Given the description of an element on the screen output the (x, y) to click on. 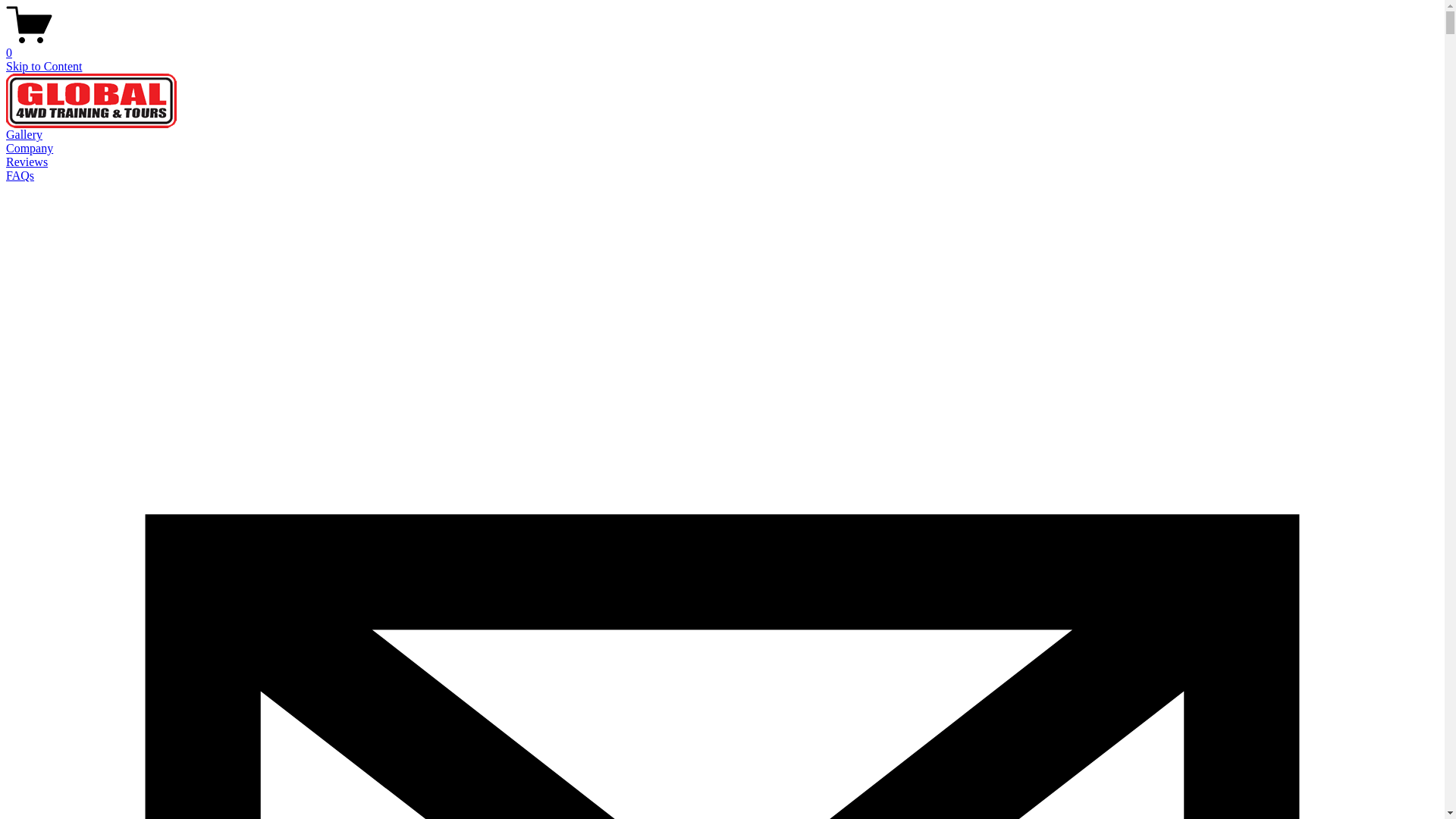
FAQs Element type: text (20, 175)
0 Element type: text (722, 45)
Company Element type: text (29, 147)
Skip to Content Element type: text (43, 65)
Reviews Element type: text (26, 161)
Gallery Element type: text (24, 134)
